Given the description of an element on the screen output the (x, y) to click on. 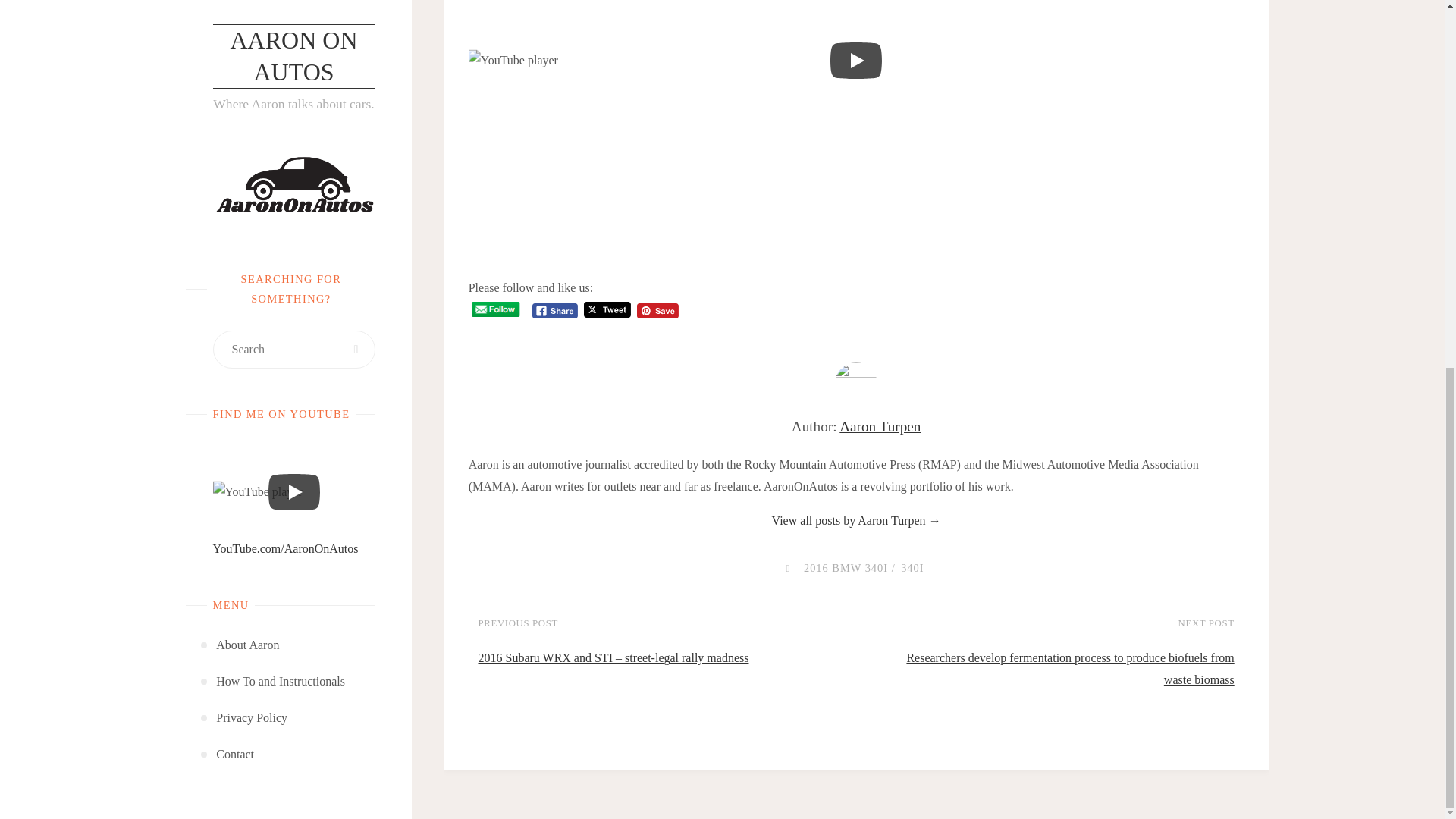
WordPress (338, 166)
Facebook Share (555, 311)
340I (910, 567)
Tweet (606, 309)
How To and Instructionals (280, 18)
Semantic Personal Publishing Platform (338, 166)
Privacy Policy (250, 54)
Verbosa WordPress Theme by Cryout Creations (283, 166)
Tagged (787, 567)
